Given the description of an element on the screen output the (x, y) to click on. 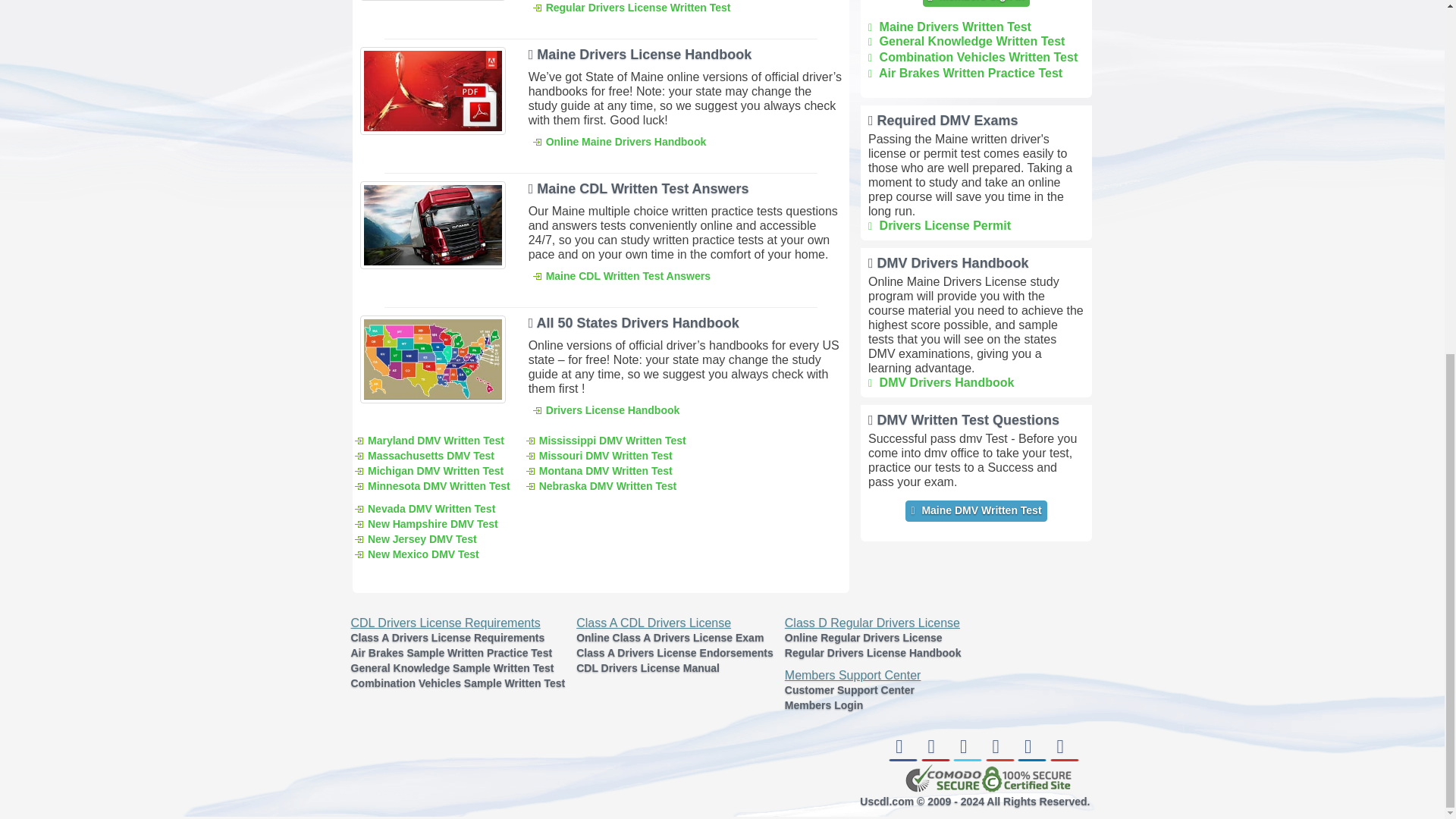
Share on Twitter (967, 768)
Montana DMV Written Test (598, 470)
Nebraska DMV Written Test (600, 485)
Combination Vehicles Written Test (972, 56)
Massachusetts DMV Test (424, 455)
Share on Youtube (1063, 768)
New Hampshire DMV Test (425, 523)
Mississippi DMV Written Test (604, 440)
Missouri DMV Written Test (598, 455)
Drivers License Handbook (605, 410)
